Given the description of an element on the screen output the (x, y) to click on. 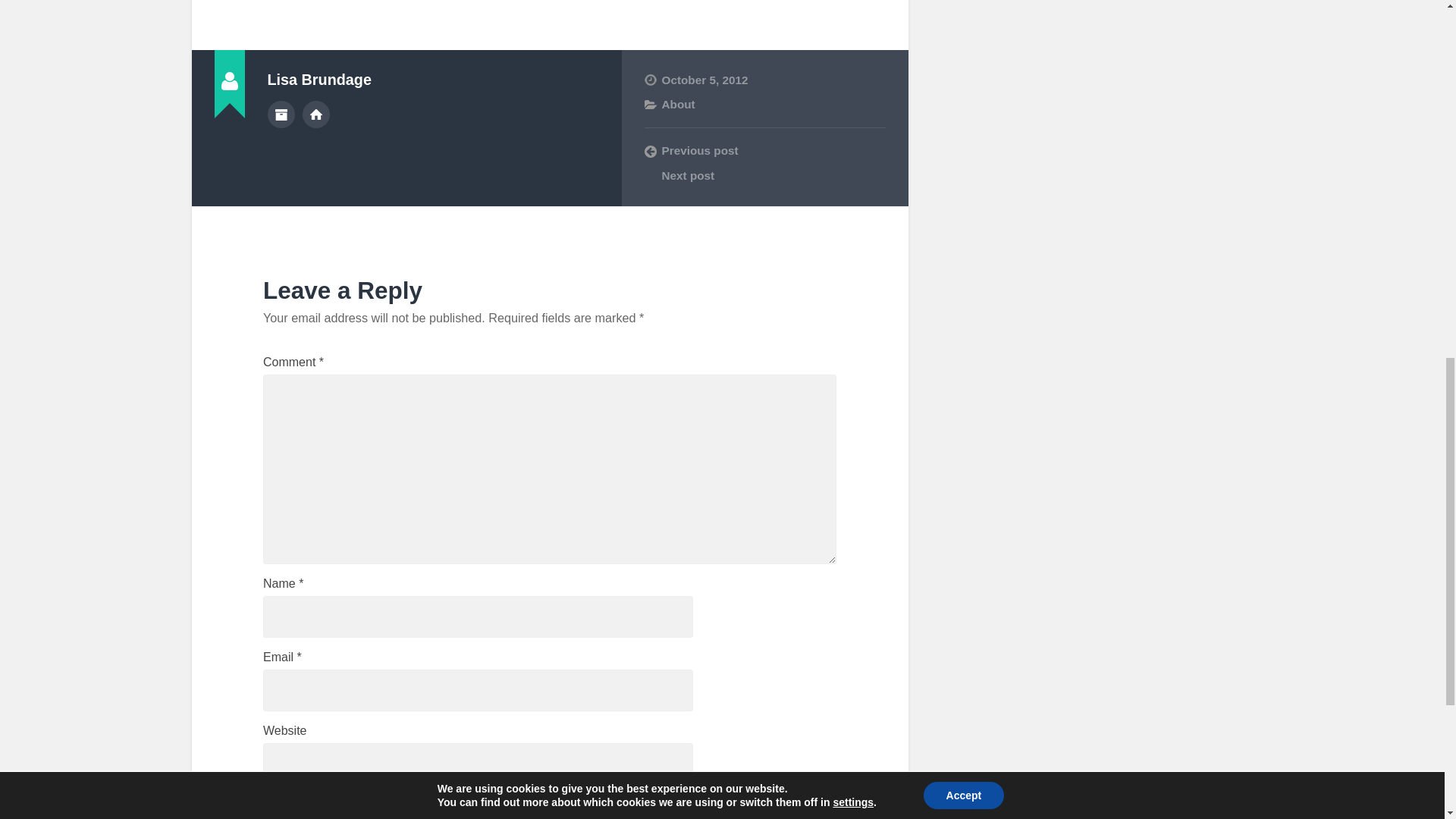
Author archive (280, 113)
yes (271, 805)
Author website (316, 113)
About (677, 103)
Previous post (765, 150)
Next post (765, 175)
